Given the description of an element on the screen output the (x, y) to click on. 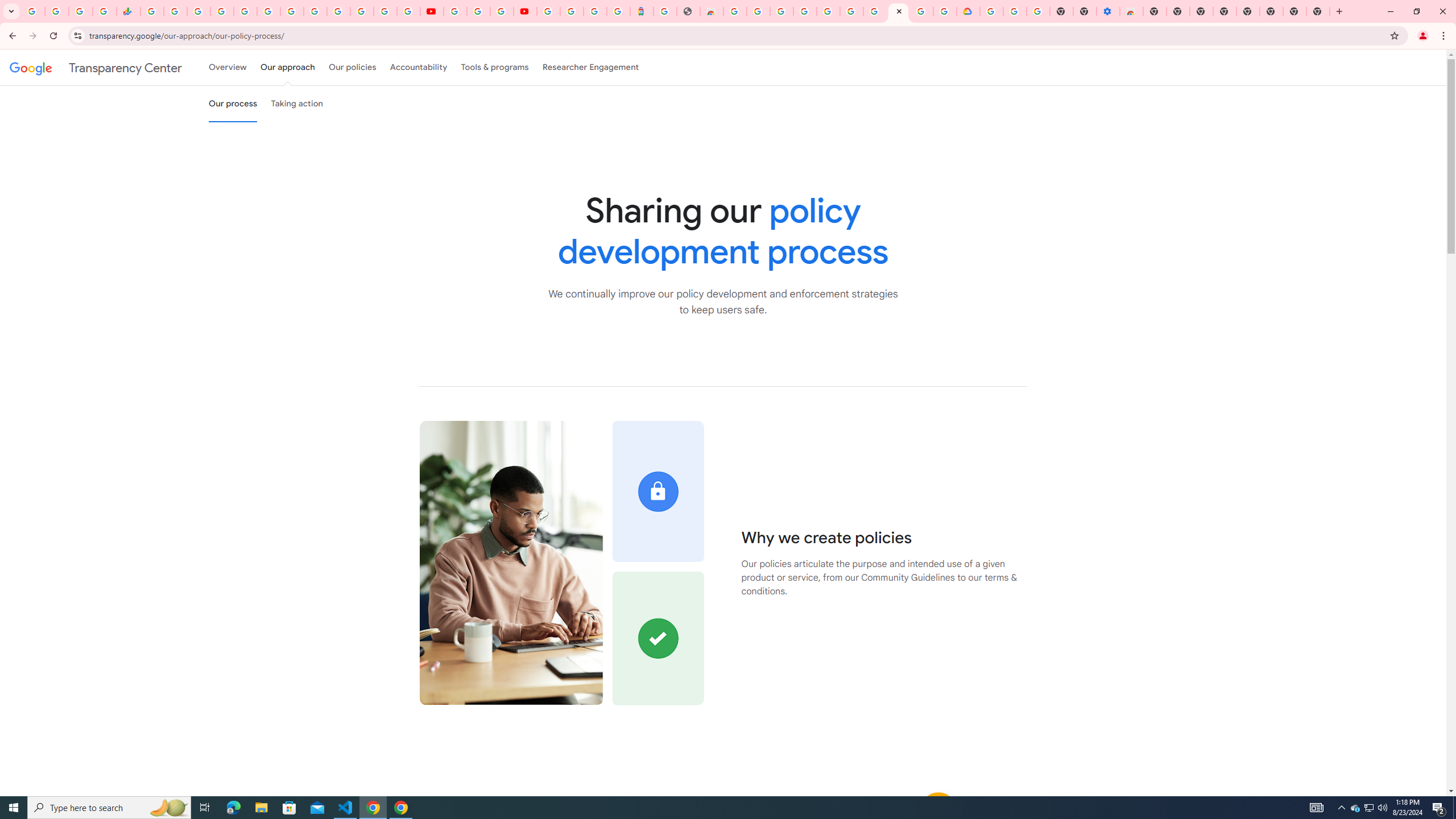
Tools & programs (494, 67)
YouTube (431, 11)
Our approach (287, 67)
Our policies (351, 67)
Create your Google Account (757, 11)
Chrome Web Store - Household (711, 11)
Google Workspace Admin Community (32, 11)
Google Account Help (478, 11)
